Given the description of an element on the screen output the (x, y) to click on. 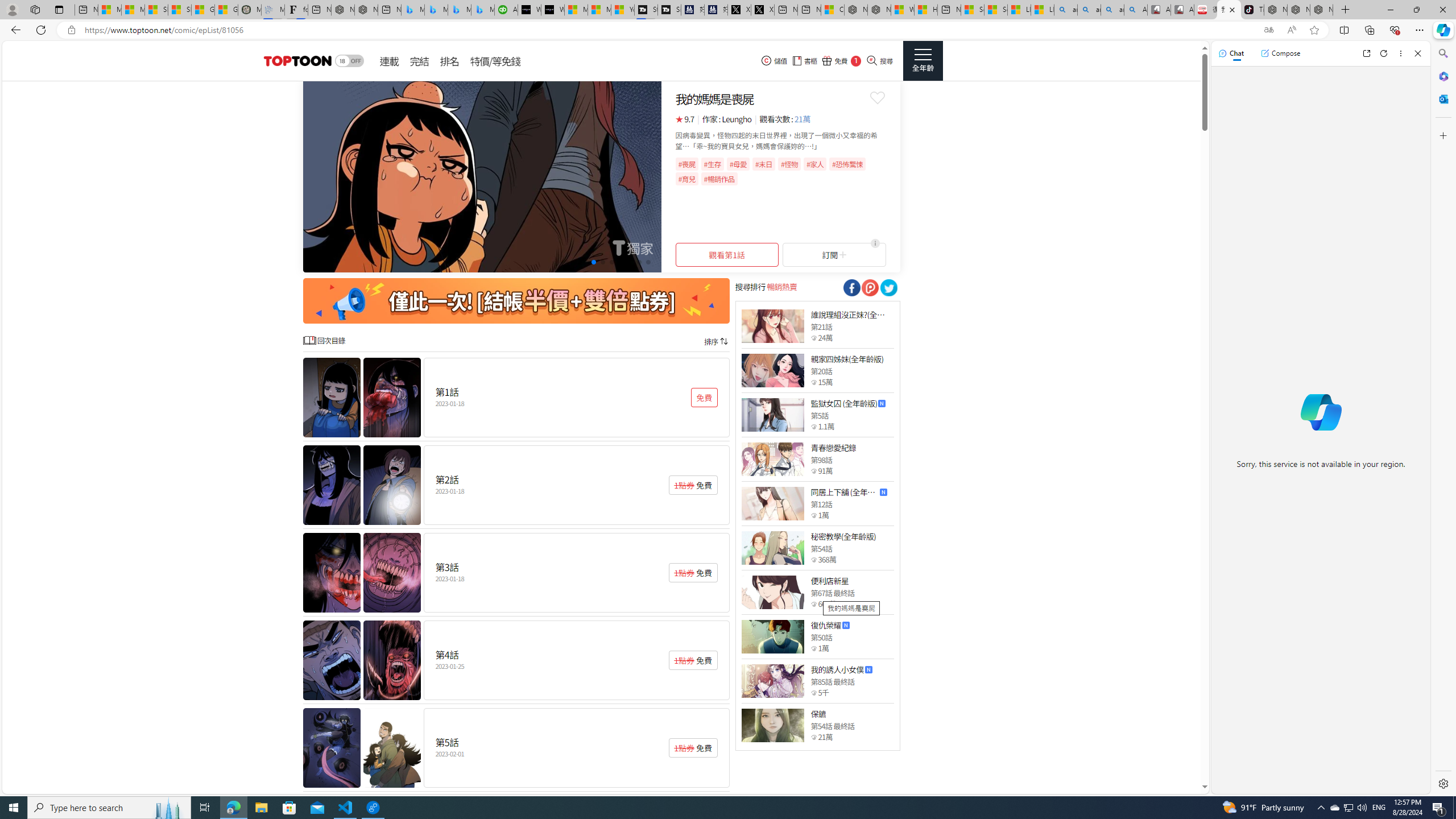
Nordace - Siena Pro 15 Essential Set (1321, 9)
Microsoft Start (598, 9)
Go to slide 1 (566, 261)
Go to slide 10 (647, 261)
Class: swiper-slide swiper-slide-prev (481, 176)
Search (1442, 53)
